Given the description of an element on the screen output the (x, y) to click on. 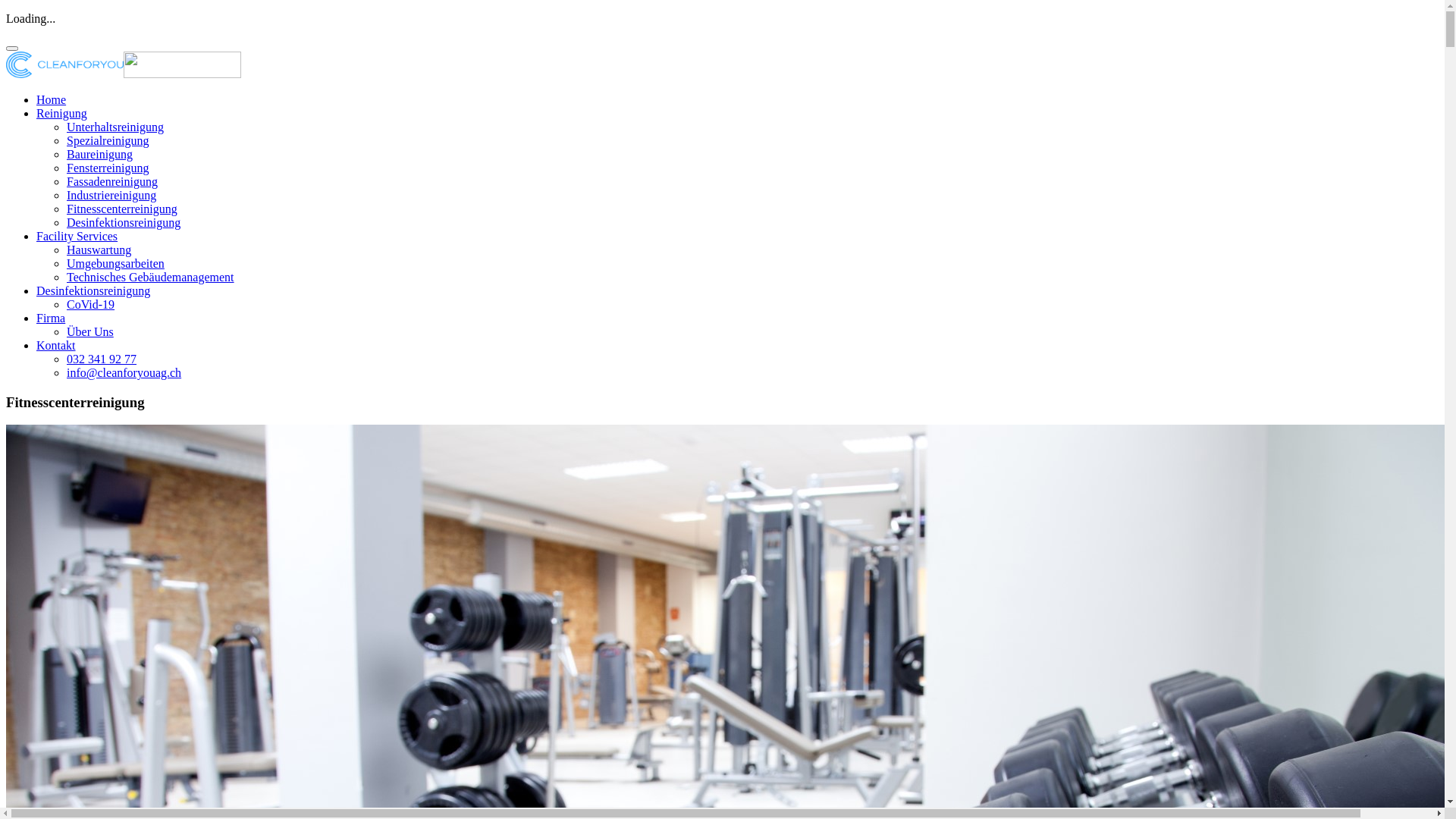
Spezialreinigung Element type: text (107, 140)
032 341 92 77 Element type: text (101, 358)
Hauswartung Element type: text (98, 249)
Unterhaltsreinigung Element type: text (114, 126)
Home Element type: text (50, 99)
Facility Services Element type: text (76, 235)
Industriereinigung Element type: text (111, 194)
Baureinigung Element type: text (99, 153)
Kontakt Element type: text (55, 344)
CoVid-19 Element type: text (90, 304)
Fitnesscenterreinigung Element type: text (121, 208)
Desinfektionsreinigung Element type: text (93, 290)
info@cleanforyouag.ch Element type: text (123, 372)
Desinfektionsreinigung Element type: text (123, 222)
Fassadenreinigung Element type: text (111, 181)
Fensterreinigung Element type: text (107, 167)
Reinigung Element type: text (61, 112)
Umgebungsarbeiten Element type: text (115, 263)
Firma Element type: text (50, 317)
